Given the description of an element on the screen output the (x, y) to click on. 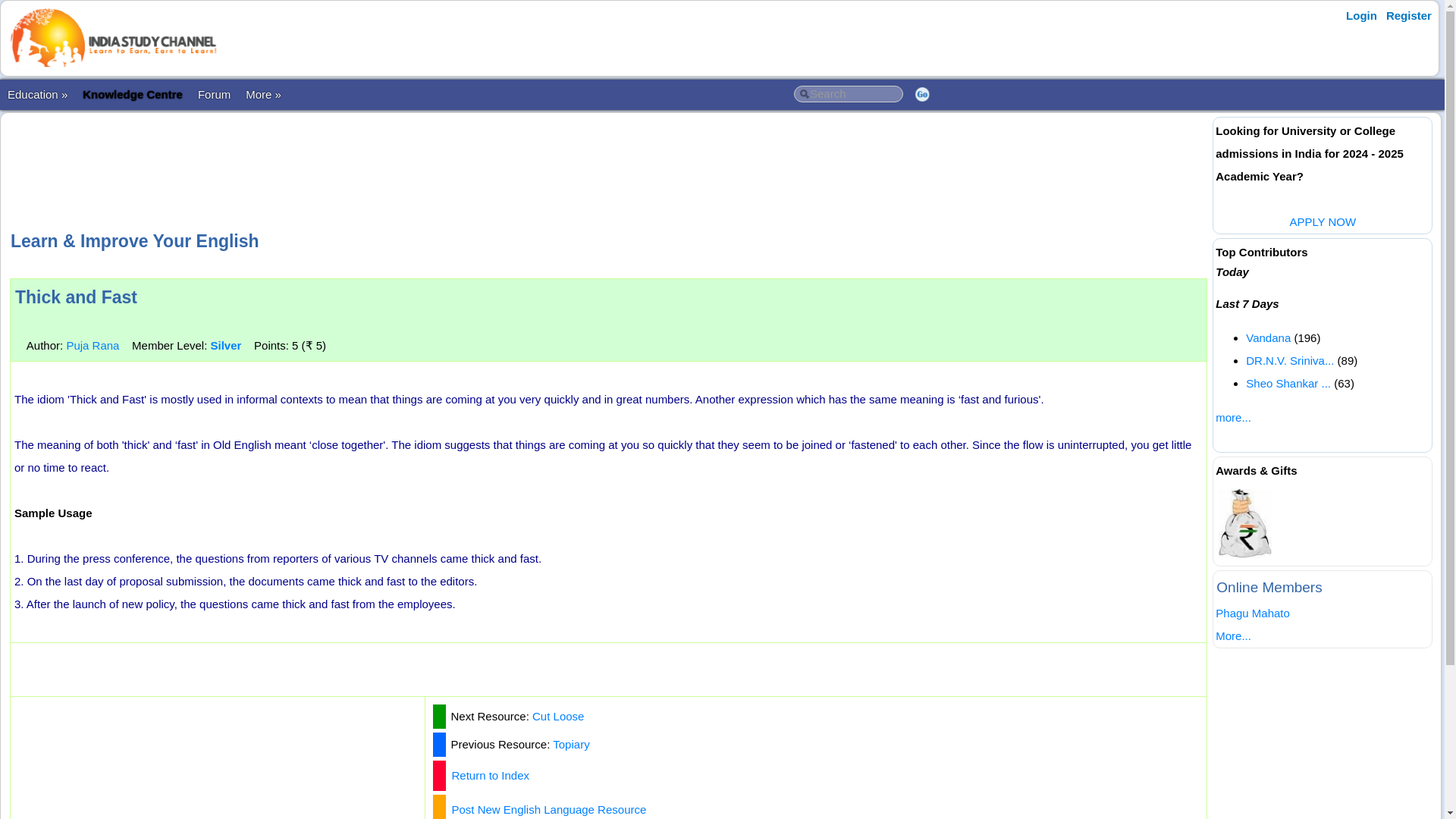
Return to Index (490, 775)
More... (1232, 635)
Total Points: 737 (225, 345)
Post New English Language Resource (548, 809)
DR.N.V. Sriniva... (1289, 359)
Phagu Mahato (1252, 612)
Topiary (571, 744)
more... (1232, 417)
Silver (225, 345)
Knowledge Centre (132, 94)
